Given the description of an element on the screen output the (x, y) to click on. 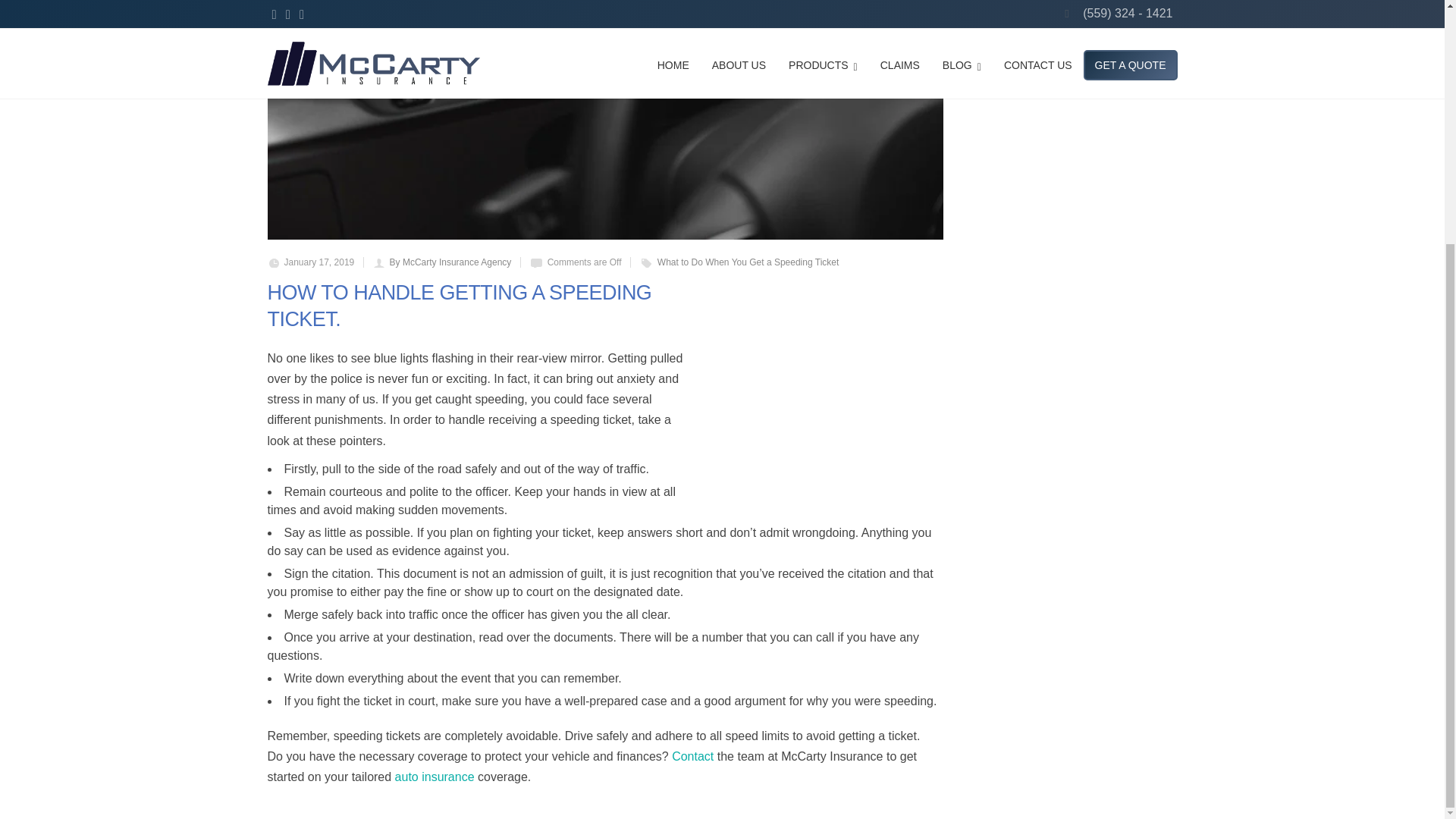
Contact (692, 756)
auto insurance (434, 776)
By McCarty Insurance Agency (451, 262)
What to Do When You Get a Speeding Ticket (748, 262)
